Given the description of an element on the screen output the (x, y) to click on. 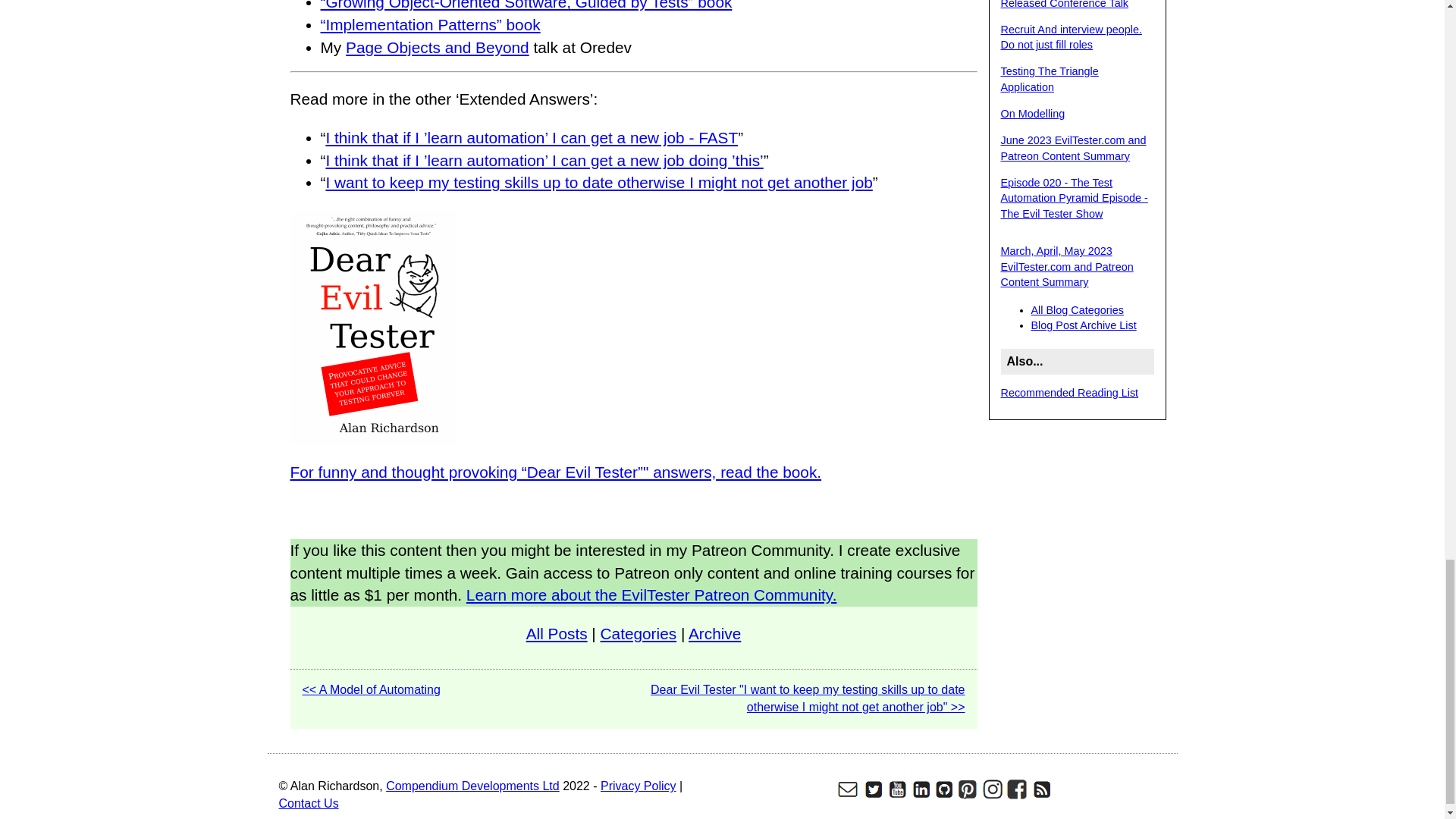
A Model of Automating (370, 689)
Page Objects and Beyond (437, 47)
